Given the description of an element on the screen output the (x, y) to click on. 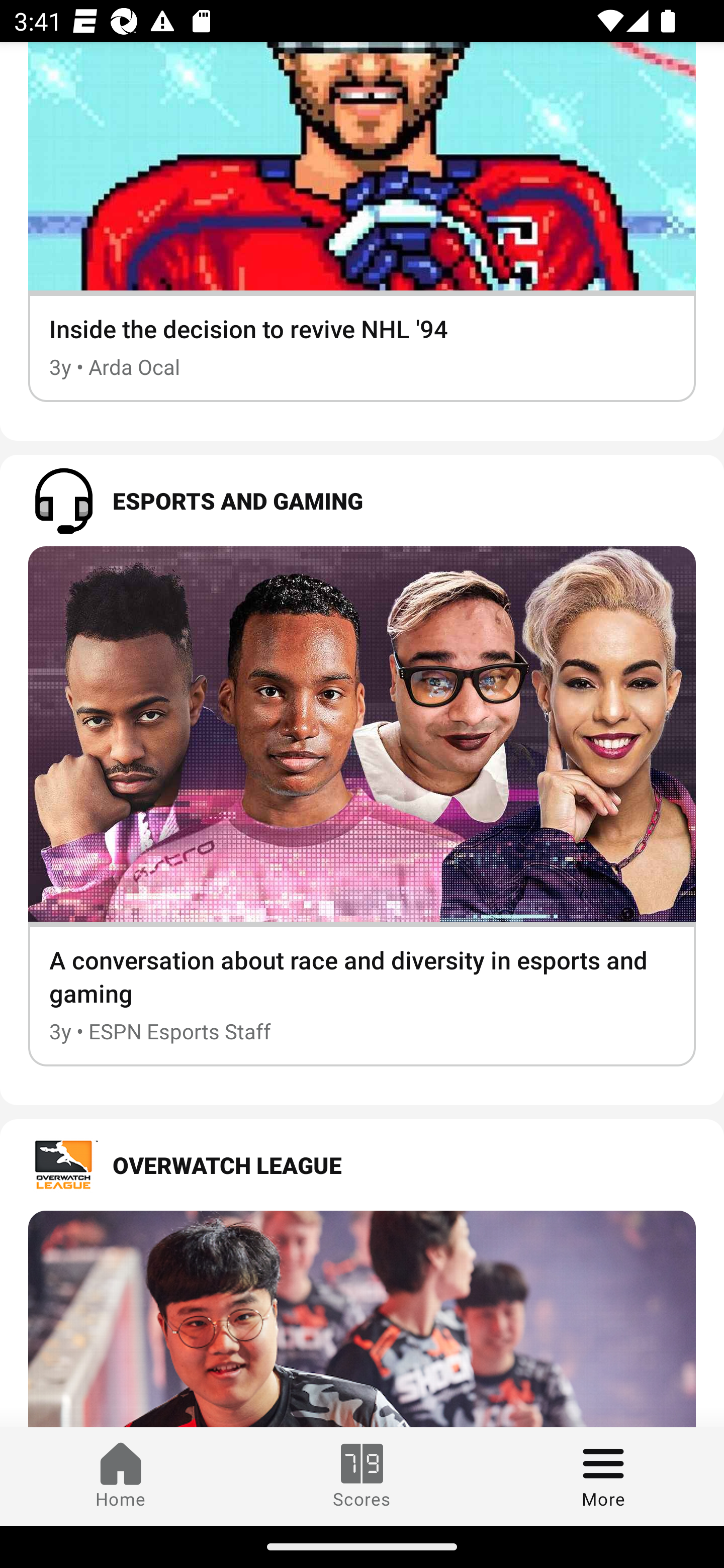
ESPORTS AND GAMING (362, 499)
Home (120, 1475)
Scores (361, 1475)
